Given the description of an element on the screen output the (x, y) to click on. 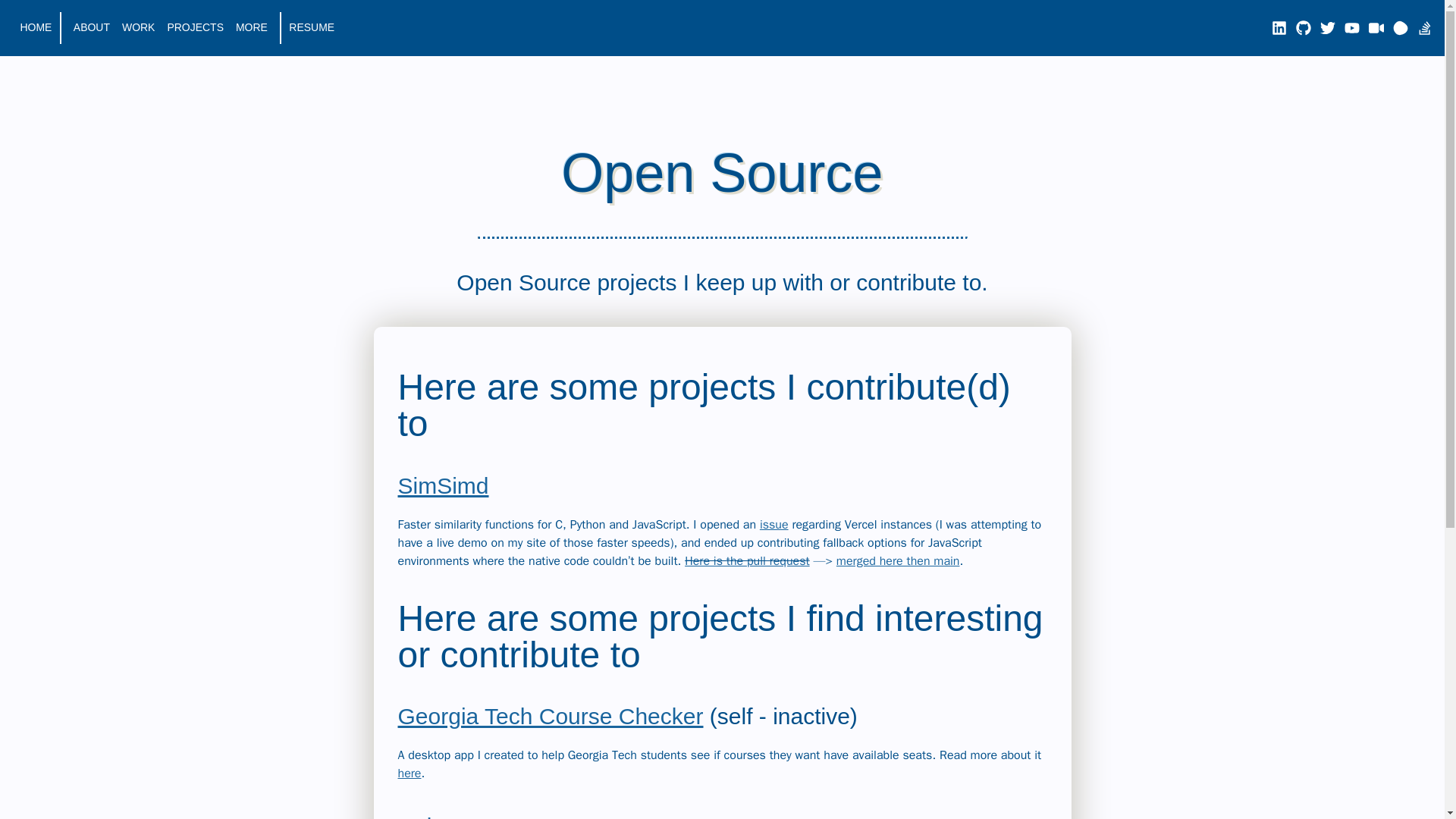
MORE (251, 28)
Georgia Tech Course Checker (550, 715)
issue (774, 524)
Here is the pull request (746, 560)
WORK (138, 28)
ABOUT (92, 28)
here (408, 773)
HOME (36, 28)
PROJECTS (195, 28)
RESUME (310, 28)
SimSimd (442, 485)
Ct.js (419, 816)
merged here then main (897, 560)
